Given the description of an element on the screen output the (x, y) to click on. 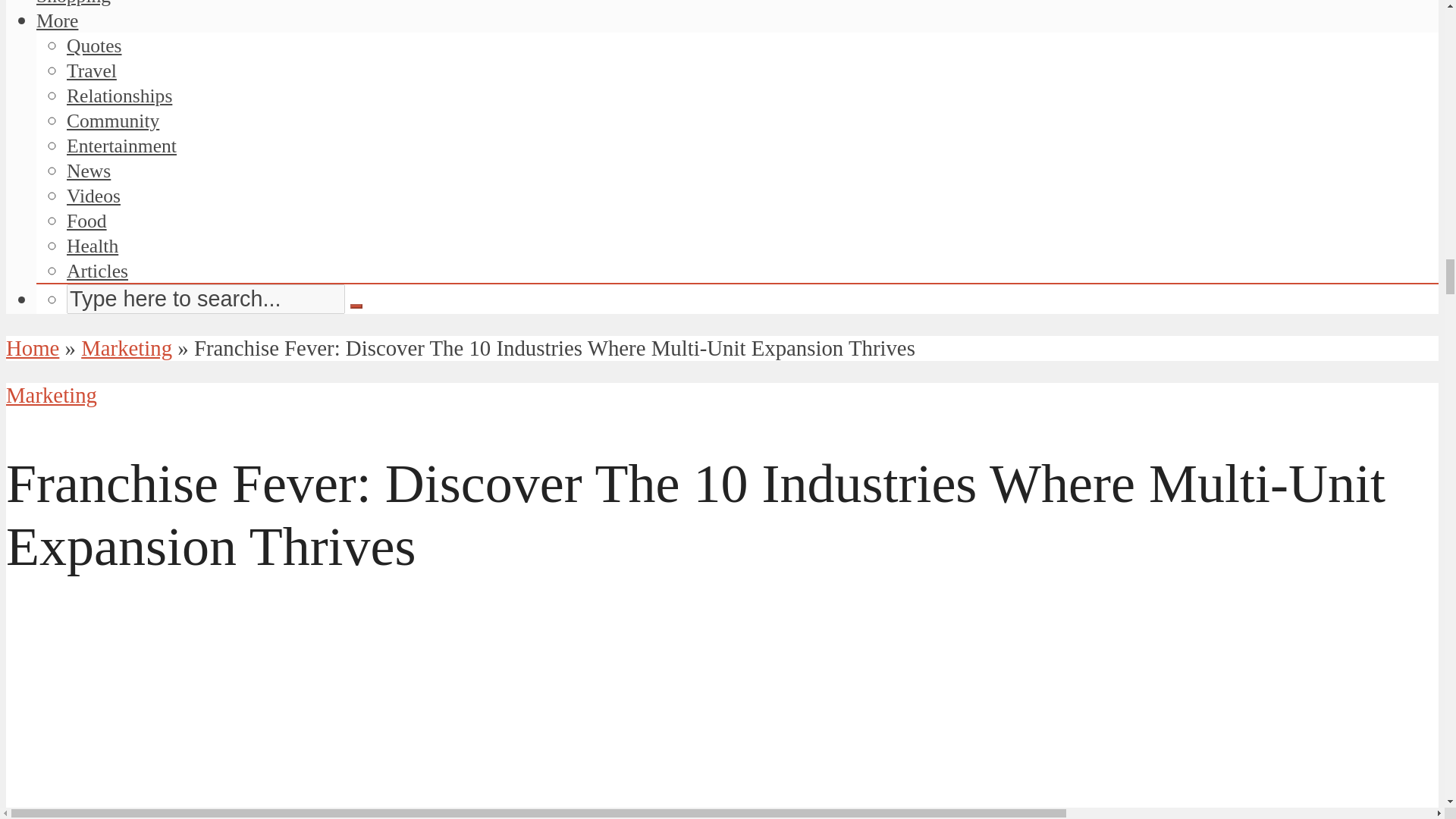
Type here to search... (205, 298)
Type here to search... (205, 298)
